Given the description of an element on the screen output the (x, y) to click on. 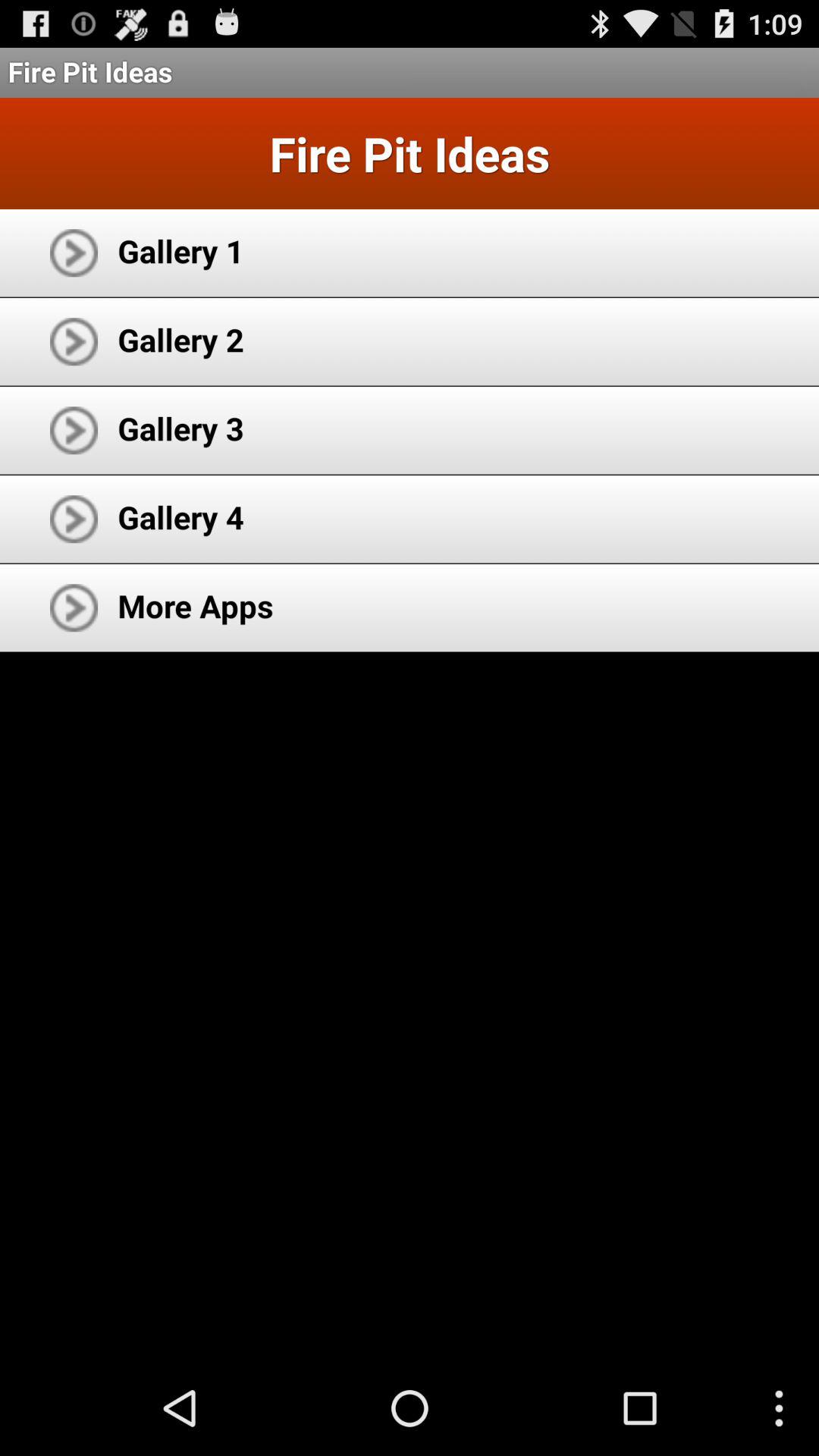
click the icon below gallery 2 icon (180, 427)
